Given the description of an element on the screen output the (x, y) to click on. 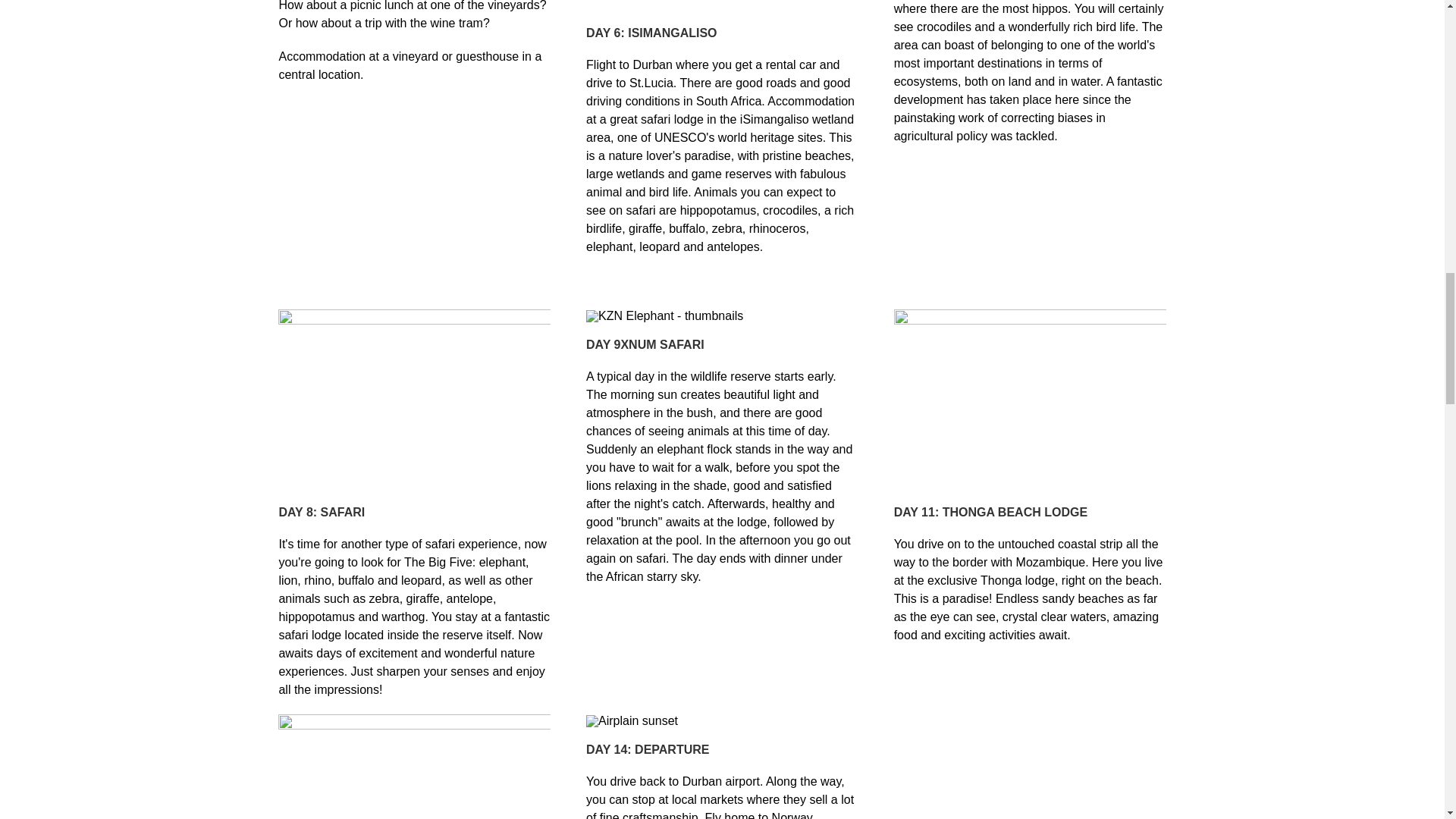
Page 4 (414, 42)
